Given the description of an element on the screen output the (x, y) to click on. 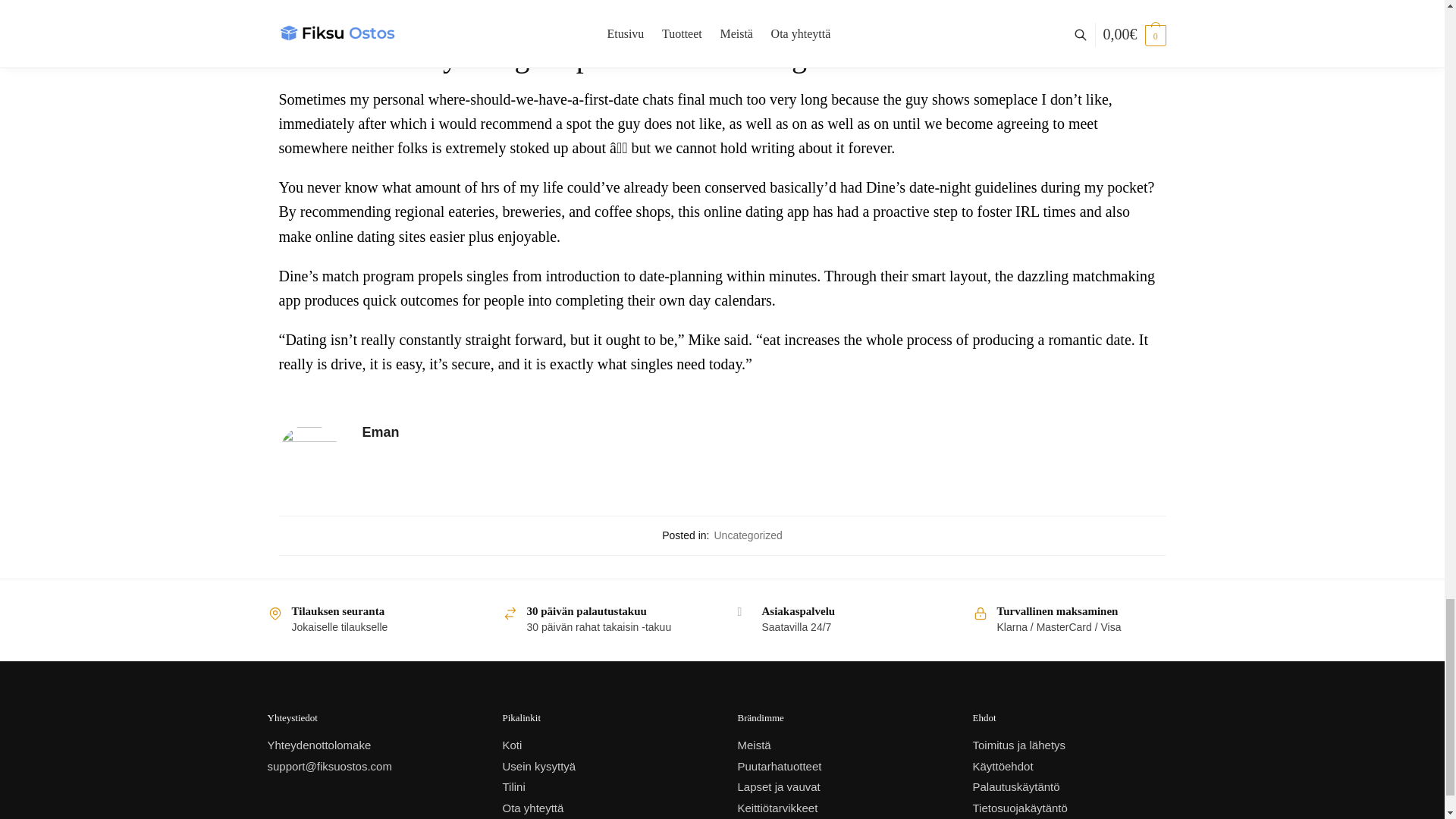
Koti (511, 744)
Tilini (513, 786)
Yhteydenottolomake (318, 744)
Uncategorized (747, 535)
Puutarhatuotteet (778, 766)
Eman (764, 432)
